Given the description of an element on the screen output the (x, y) to click on. 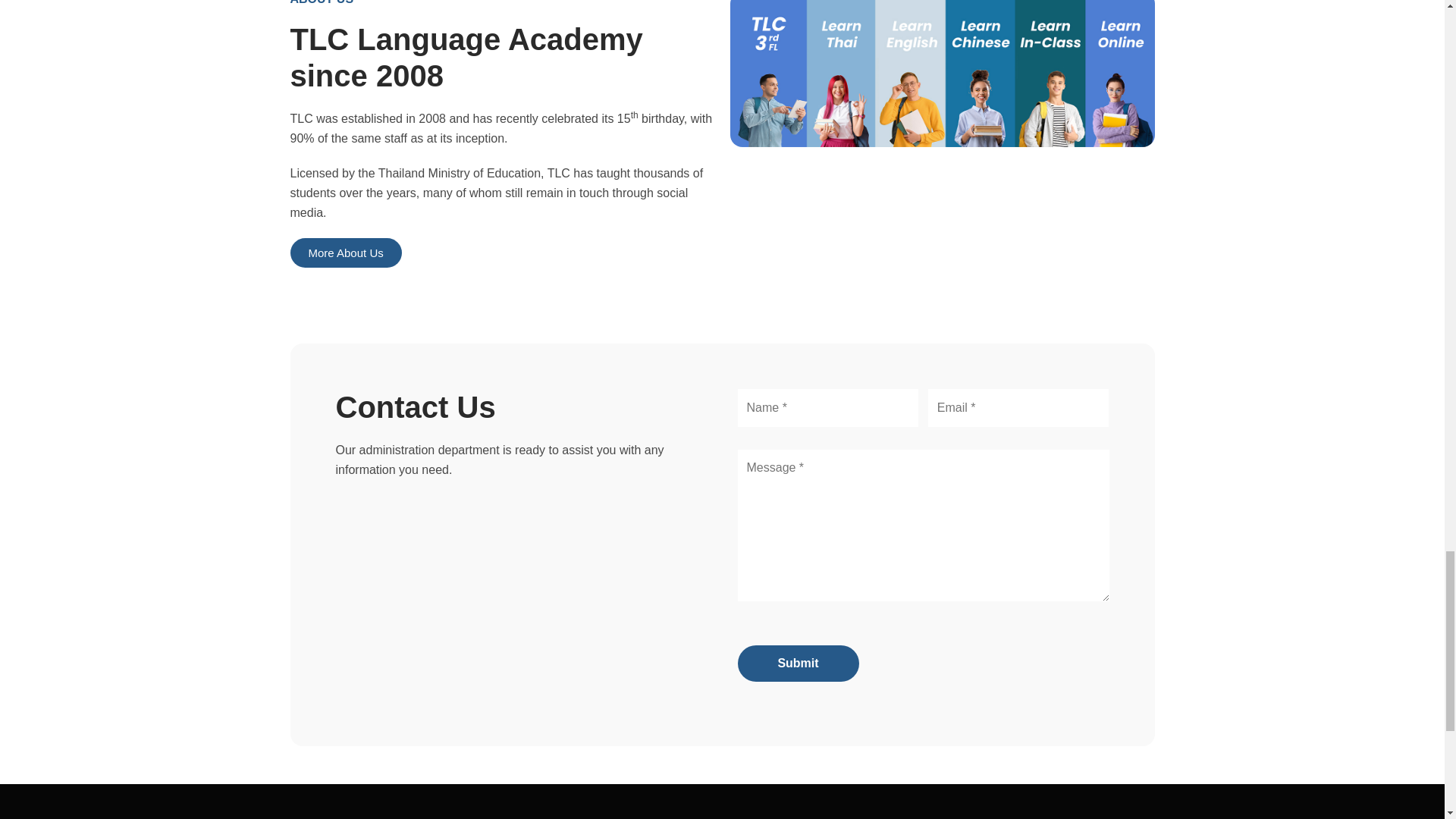
Submit (797, 663)
Submit (797, 663)
More About Us (345, 252)
